Given the description of an element on the screen output the (x, y) to click on. 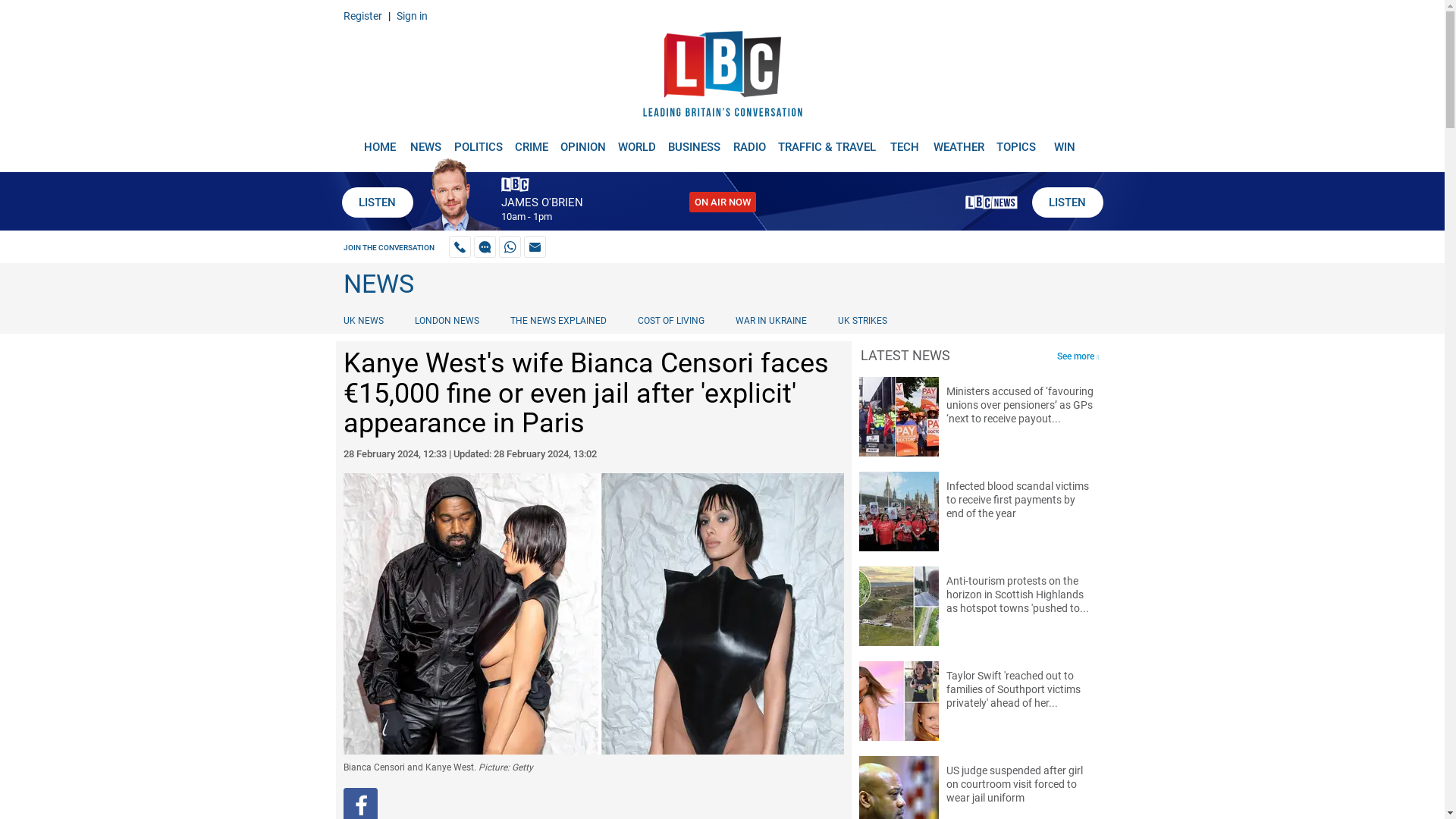
LBC (722, 77)
WAR IN UKRAINE (770, 320)
WIN (1064, 140)
TECH (904, 140)
WEATHER (958, 140)
JAMES O'BRIEN (541, 202)
NEWS (425, 140)
COST OF LIVING (670, 320)
Sign in (411, 15)
LISTEN (1066, 202)
